Given the description of an element on the screen output the (x, y) to click on. 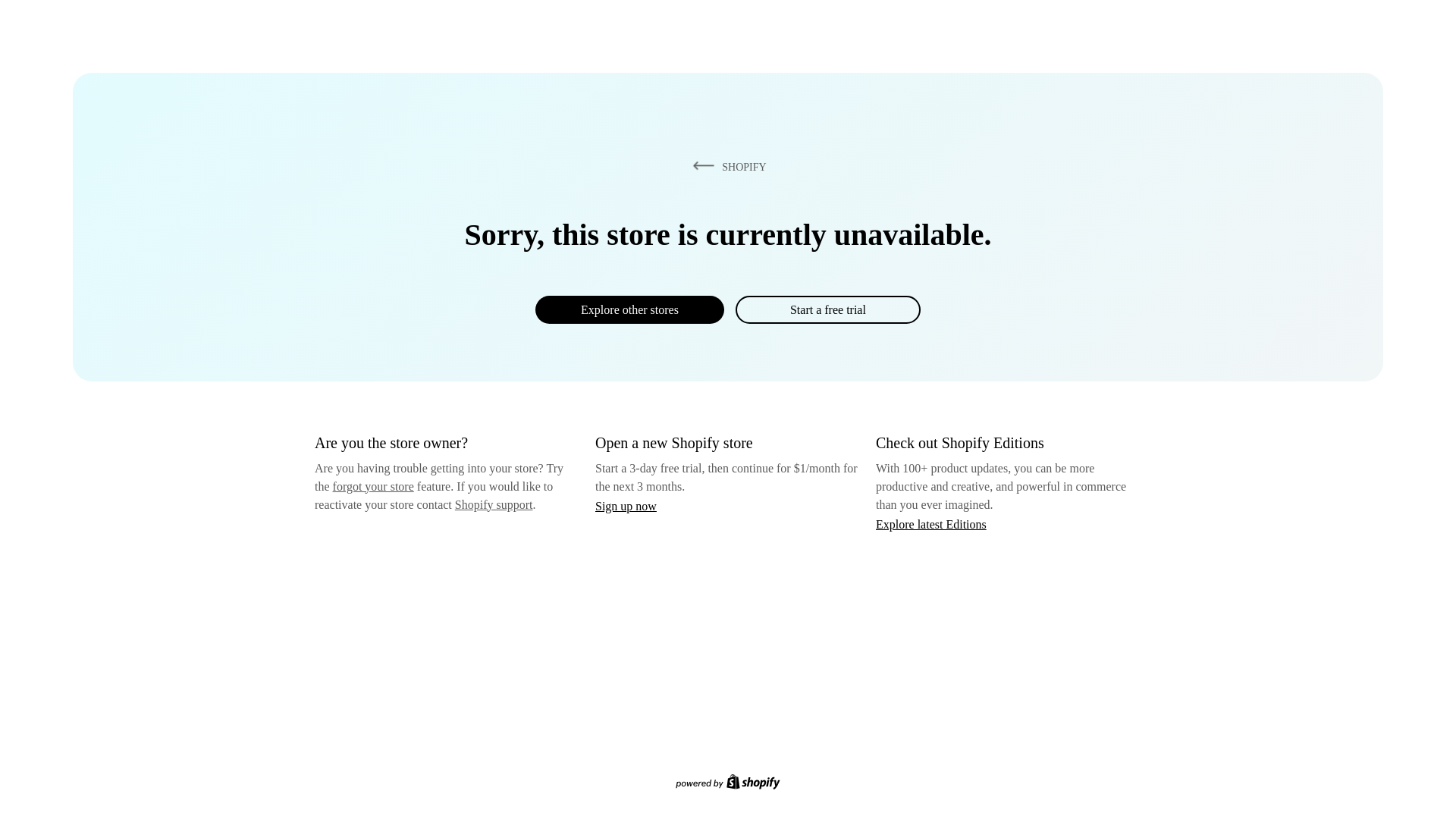
SHOPIFY (726, 166)
Start a free trial (827, 309)
Sign up now (625, 505)
Explore other stores (629, 309)
forgot your store (373, 486)
Shopify support (493, 504)
Explore latest Editions (931, 523)
